Given the description of an element on the screen output the (x, y) to click on. 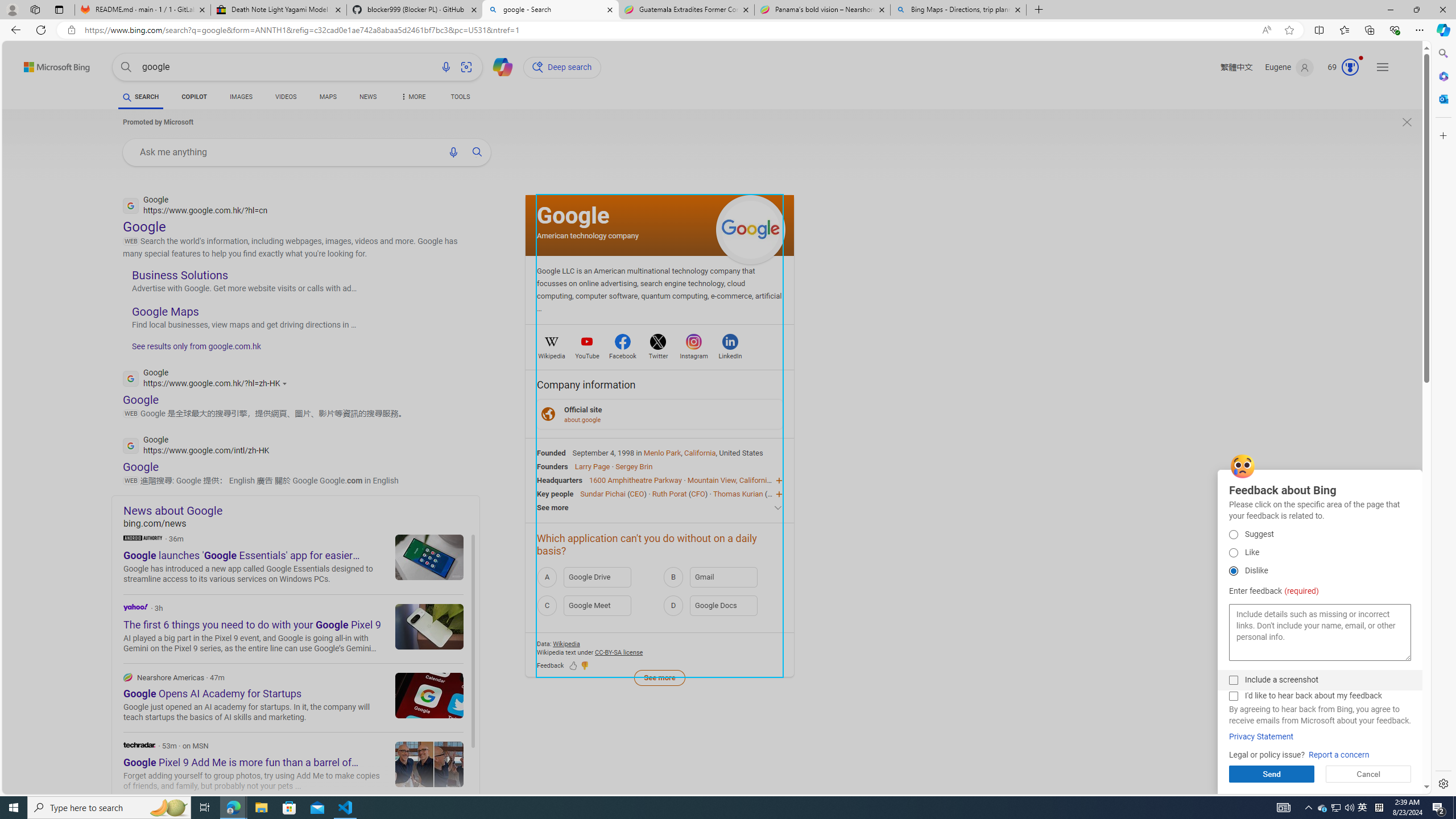
Cancel (1368, 773)
Send (1271, 773)
Report a concern (1339, 755)
